Given the description of an element on the screen output the (x, y) to click on. 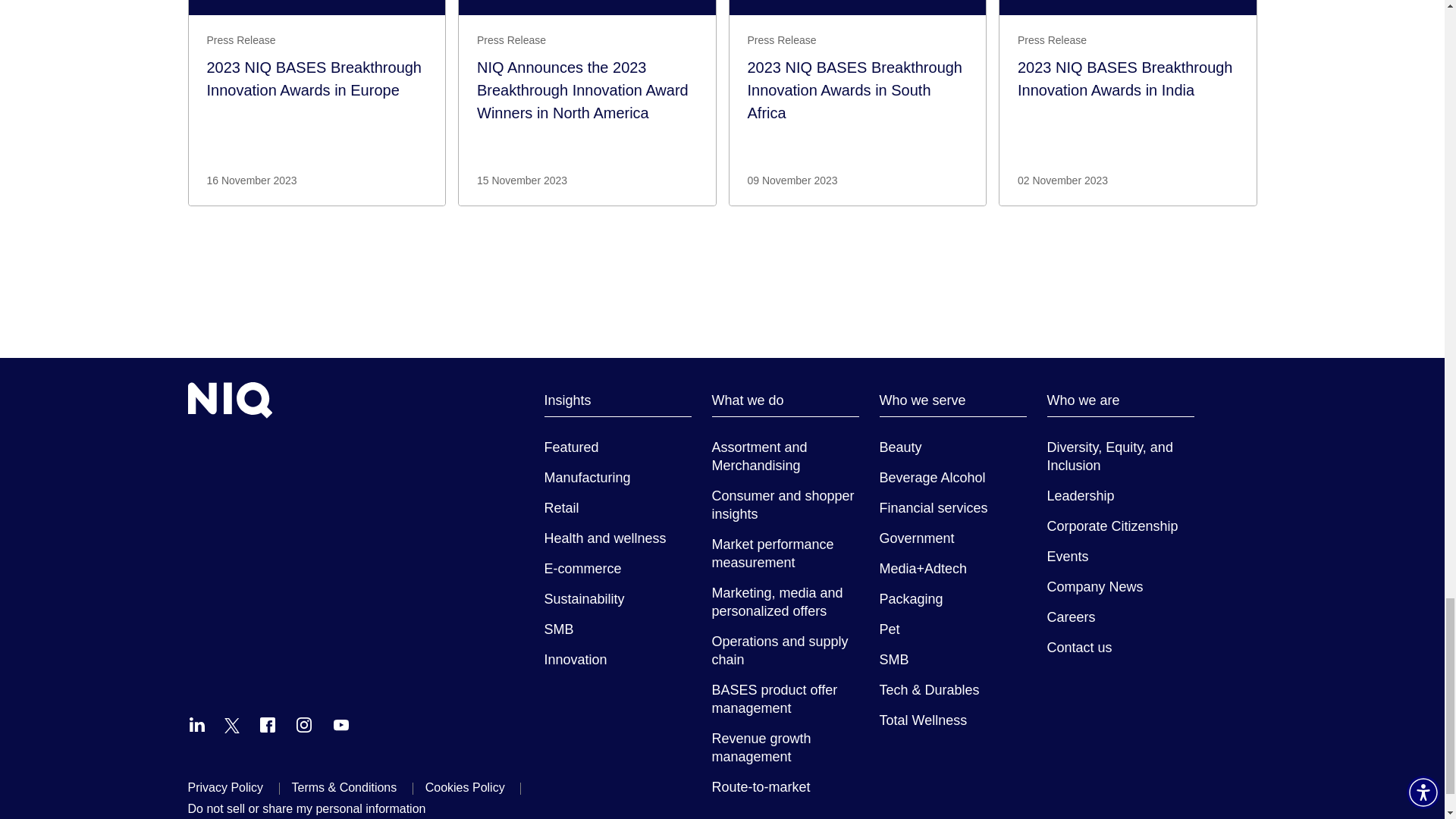
Linkedin (196, 724)
Instagram (304, 724)
Facebook (266, 724)
YouTube (340, 724)
